Given the description of an element on the screen output the (x, y) to click on. 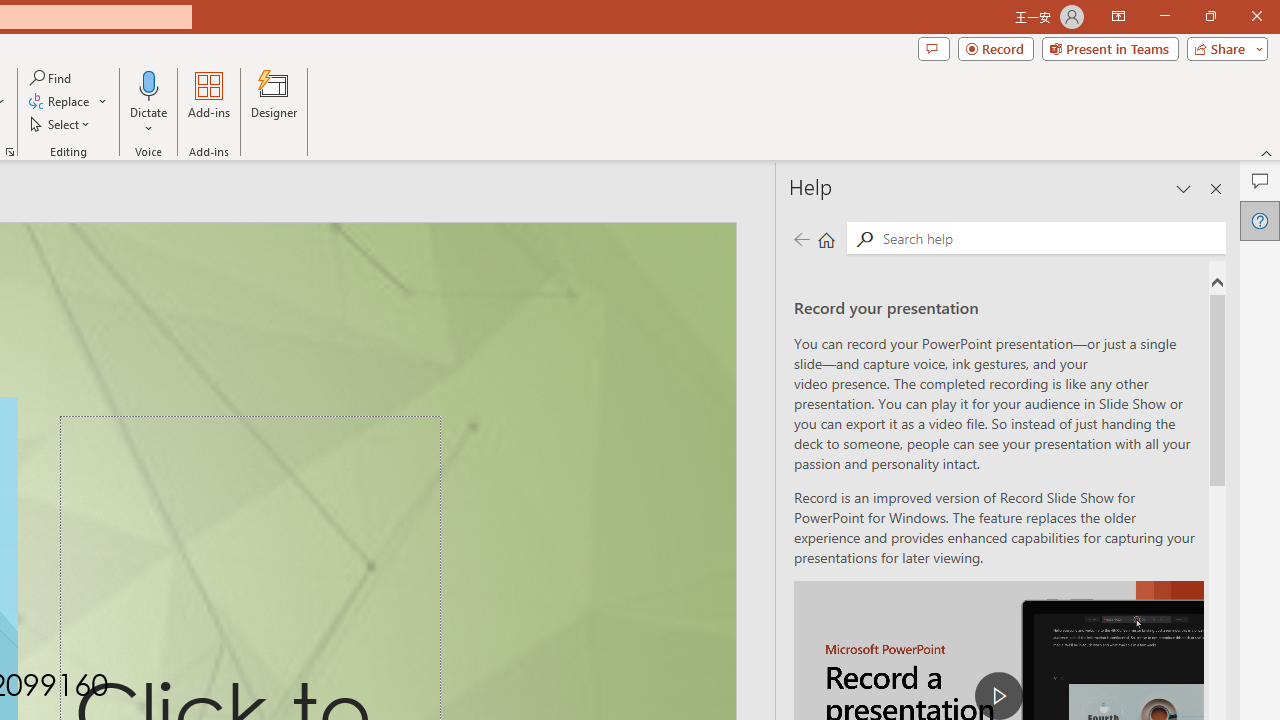
play Record a Presentation (998, 695)
